Given the description of an element on the screen output the (x, y) to click on. 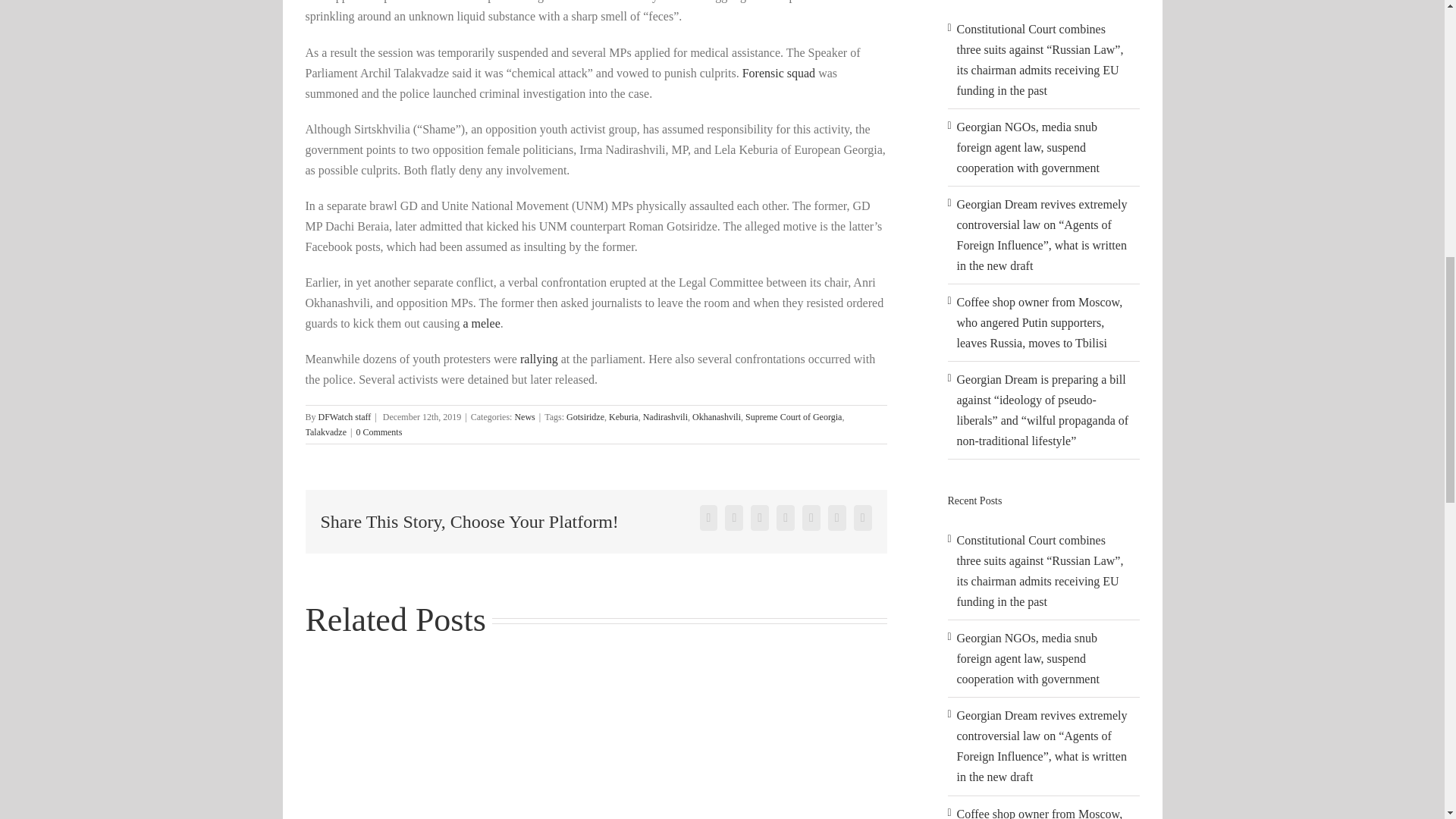
a melee (481, 323)
Gotsiridze (585, 416)
Supreme Court of Georgia (793, 416)
News (523, 416)
Forensic squad (778, 72)
Nadirashvili (665, 416)
Posts by DFWatch staff (344, 416)
Keburia (623, 416)
Okhanashvili (717, 416)
DFWatch staff (344, 416)
rallying (538, 358)
